Given the description of an element on the screen output the (x, y) to click on. 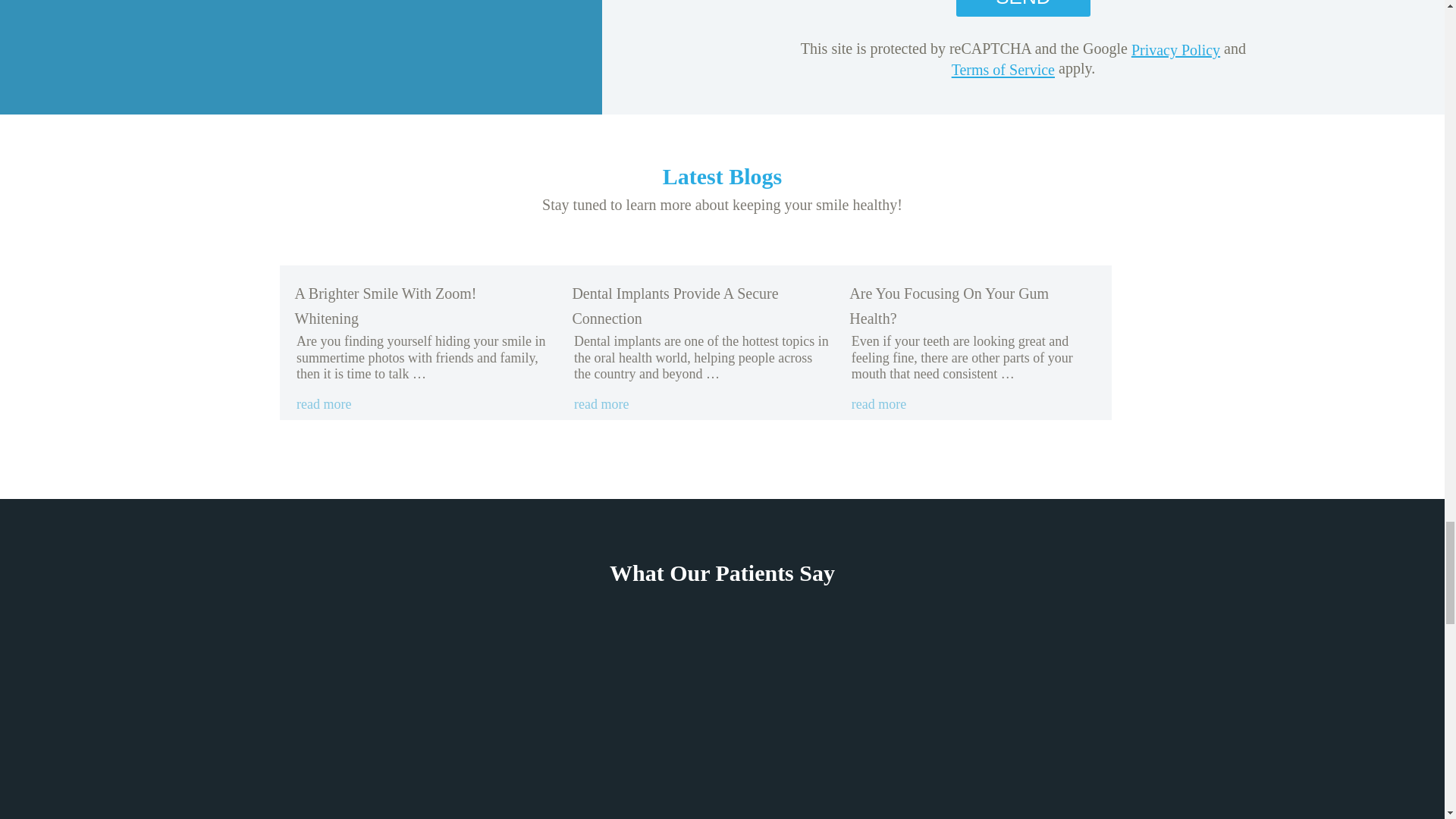
Send (1022, 8)
